Given the description of an element on the screen output the (x, y) to click on. 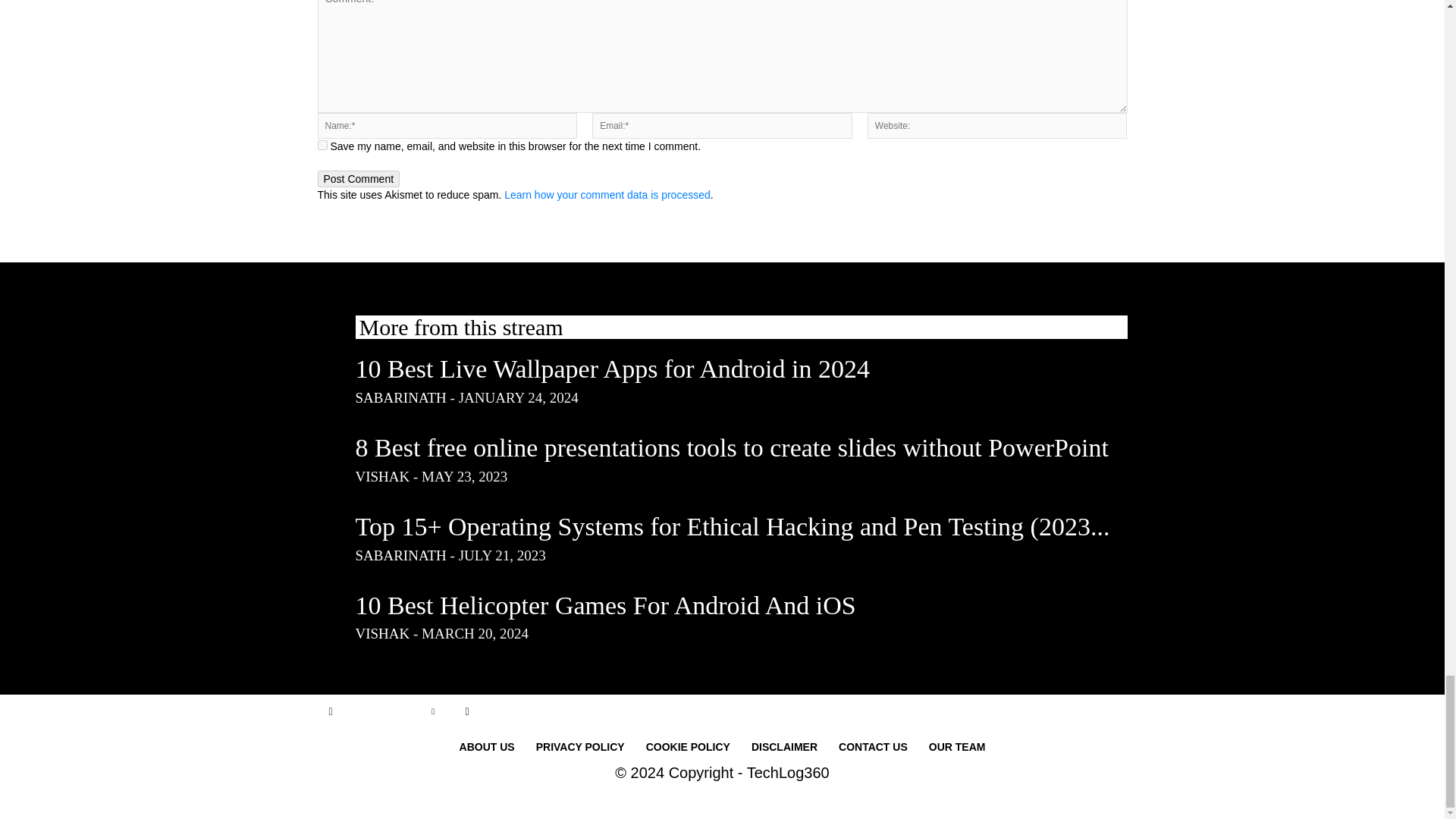
yes (321, 144)
Post Comment (357, 178)
